Given the description of an element on the screen output the (x, y) to click on. 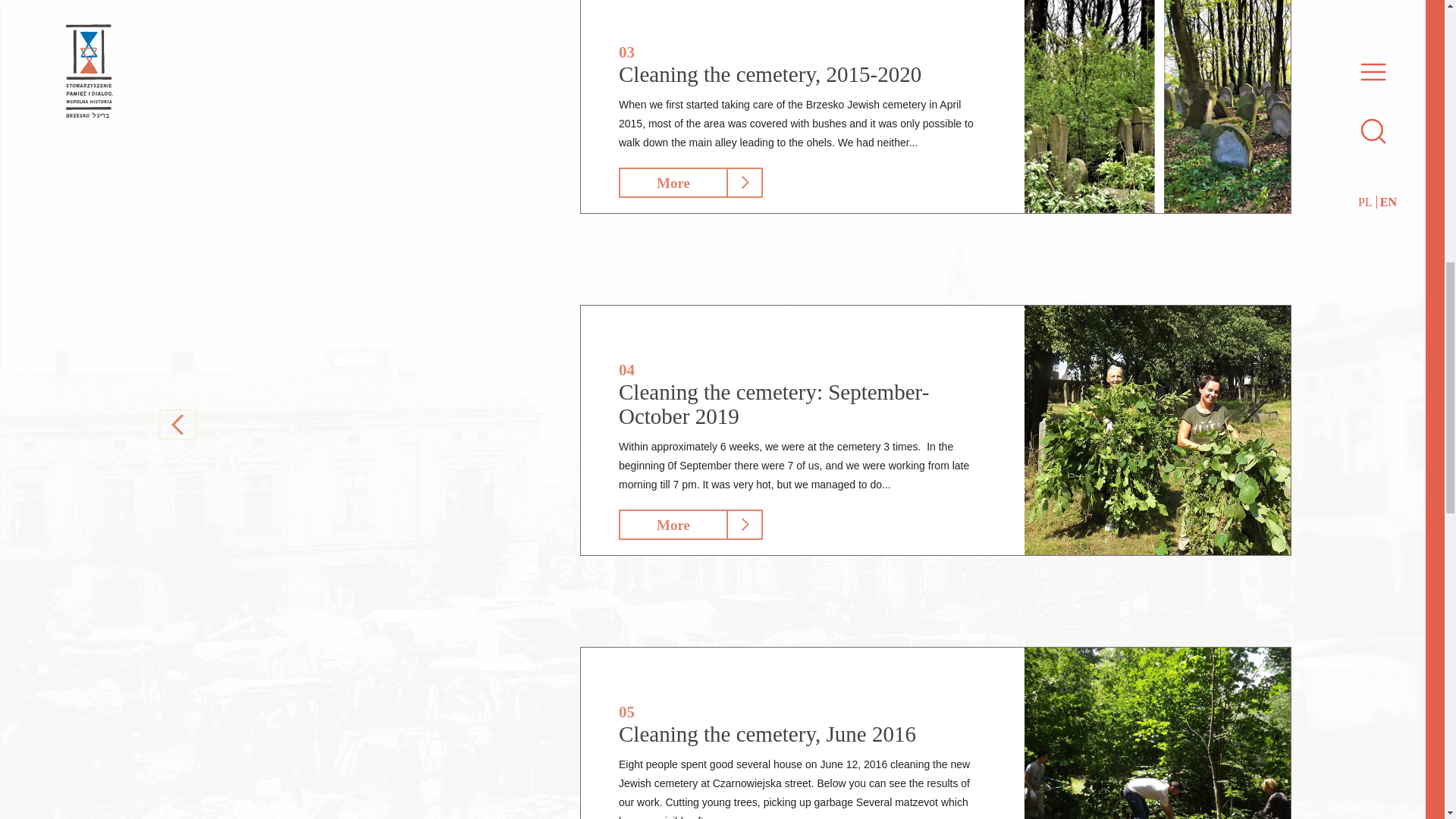
Cleaning the cemetery, 2015-2020 (1157, 106)
Cleaning the cemetery, June 2016 (1157, 733)
Cleaning the cemetery, 2015-2020 (769, 74)
More (673, 182)
More (673, 524)
Cleaning the cemetery: September-October 2019 (1157, 430)
Cleaning the cemetery: September-October 2019 (773, 404)
Cleaning the cemetery, June 2016 (766, 733)
